Given the description of an element on the screen output the (x, y) to click on. 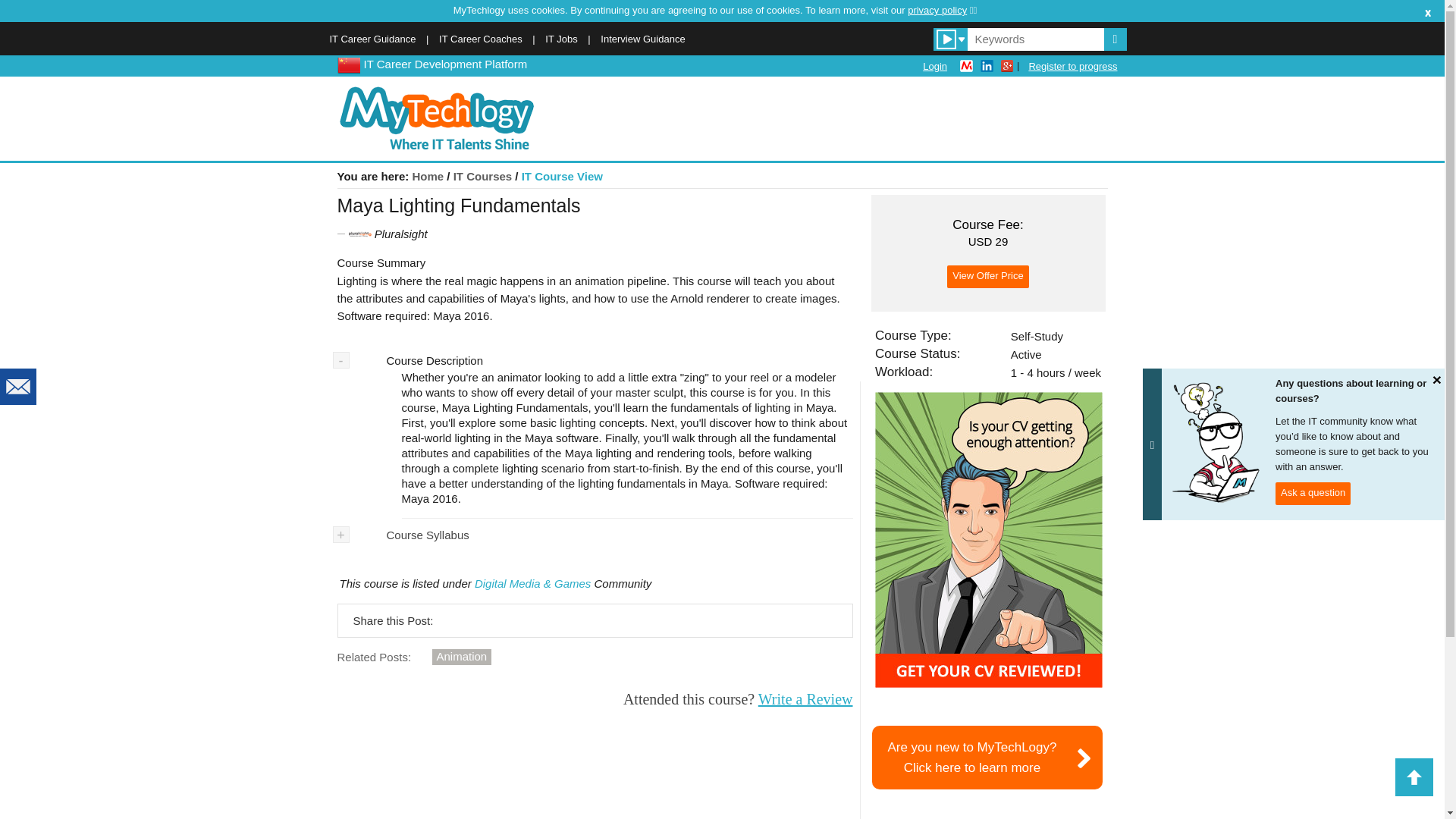
IT Courses (482, 175)
Register to progress (1071, 66)
IT Jobs (560, 39)
Interview Guidance (641, 39)
China (987, 757)
Home (347, 63)
Login (428, 175)
privacy policy  (935, 66)
Animation (941, 9)
IT Career Guidance (462, 657)
Write a Review (371, 39)
Ask a question (805, 699)
IT Career Coaches (1313, 493)
View Offer Price (480, 39)
